Given the description of an element on the screen output the (x, y) to click on. 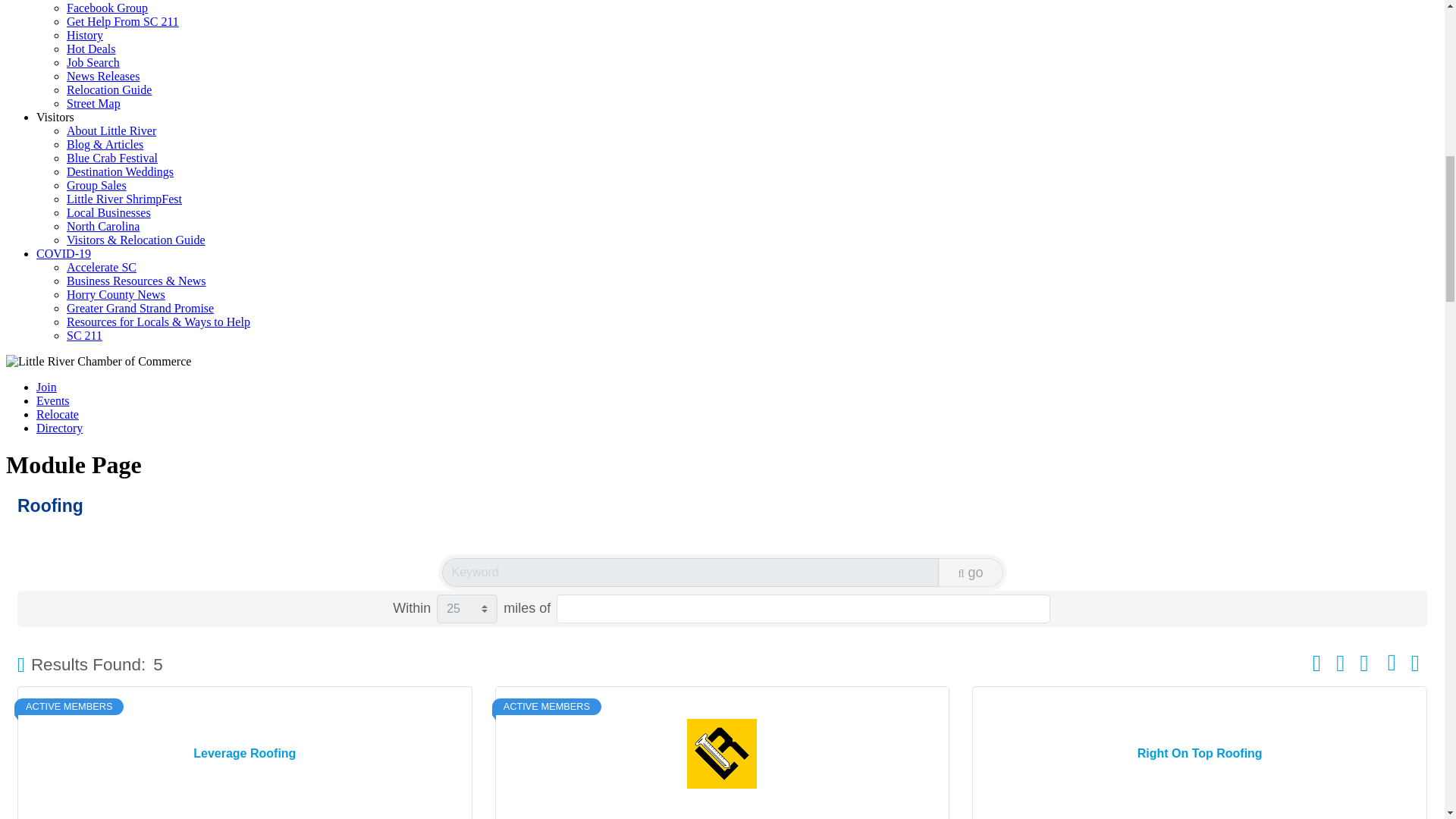
Contact These Businesses (1414, 662)
City or Postal Code (802, 608)
